Given the description of an element on the screen output the (x, y) to click on. 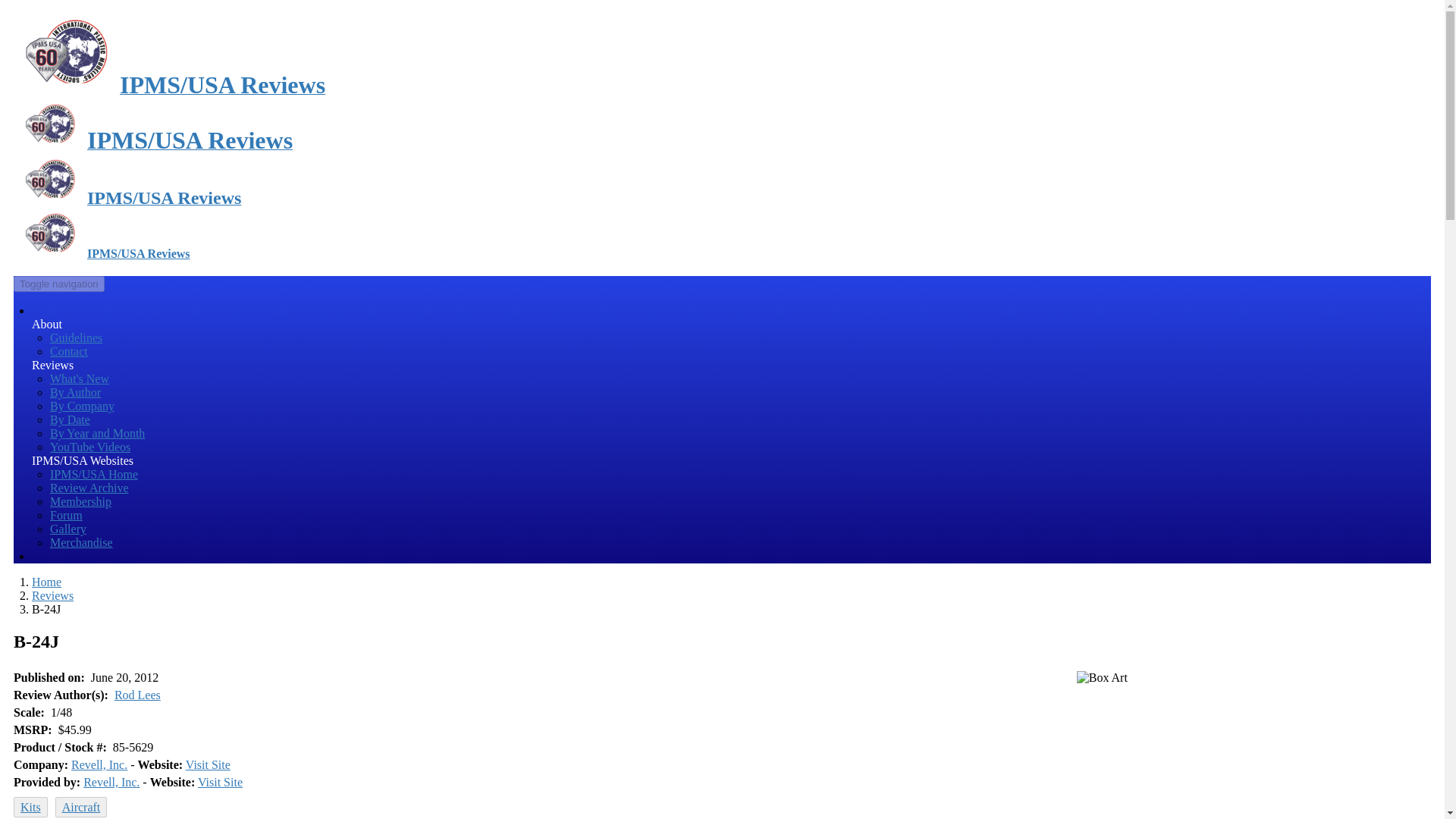
What's New (79, 378)
Membership (80, 501)
Gallery (67, 528)
By Author (74, 391)
By Year and Month (96, 432)
Home (46, 581)
Archive of pre-2008 reviews. (89, 487)
Box Art (1101, 677)
By Date (69, 419)
Revell, Inc. (99, 764)
